Given the description of an element on the screen output the (x, y) to click on. 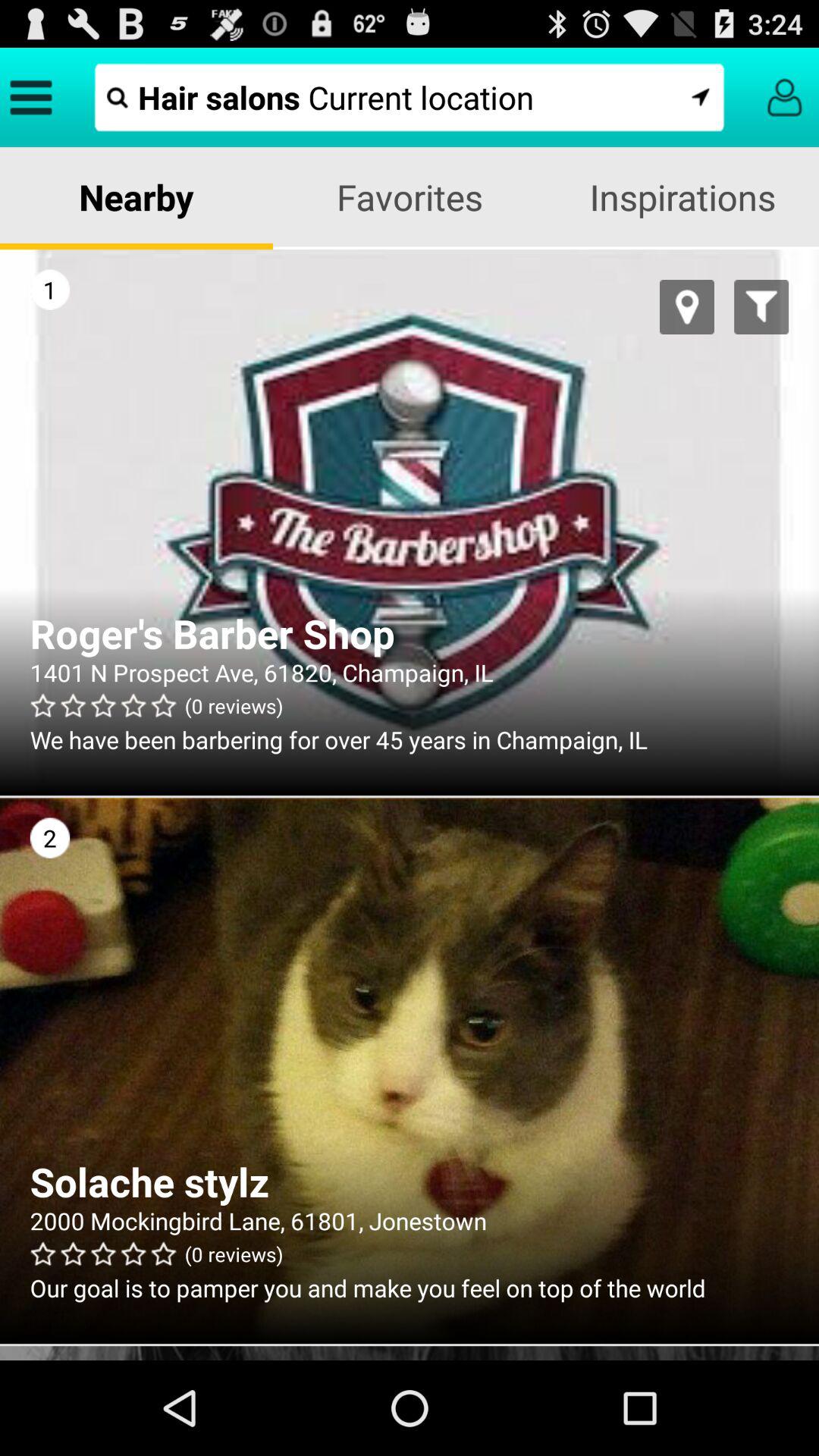
jump until our goal is app (409, 1287)
